Given the description of an element on the screen output the (x, y) to click on. 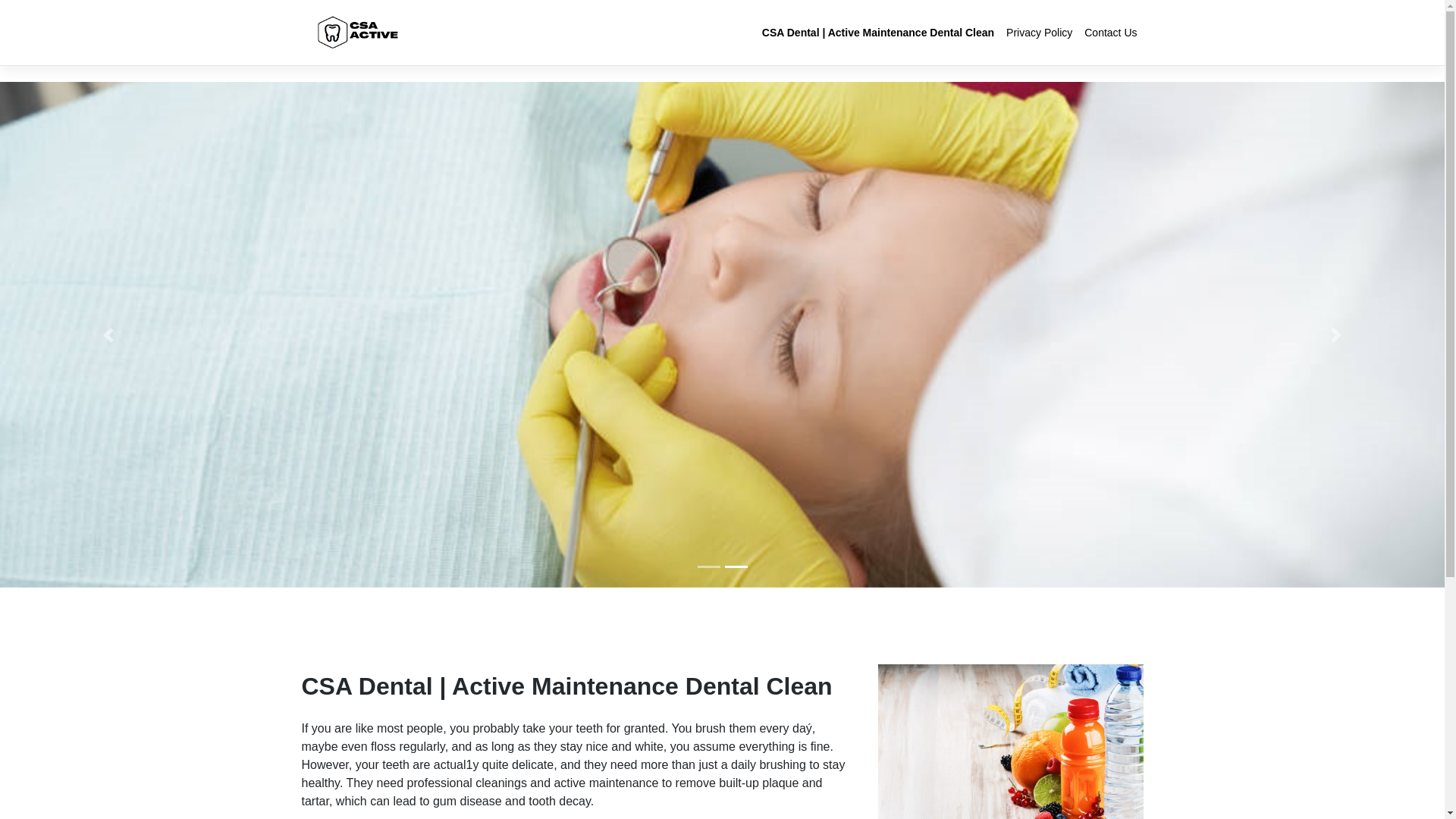
Previous Element type: text (108, 334)
Privacy Policy Element type: text (1039, 32)
Contact Us Element type: text (1110, 32)
CSA Dental | Active Maintenance Dental Clean Element type: text (878, 32)
Next Element type: text (1335, 334)
